Given the description of an element on the screen output the (x, y) to click on. 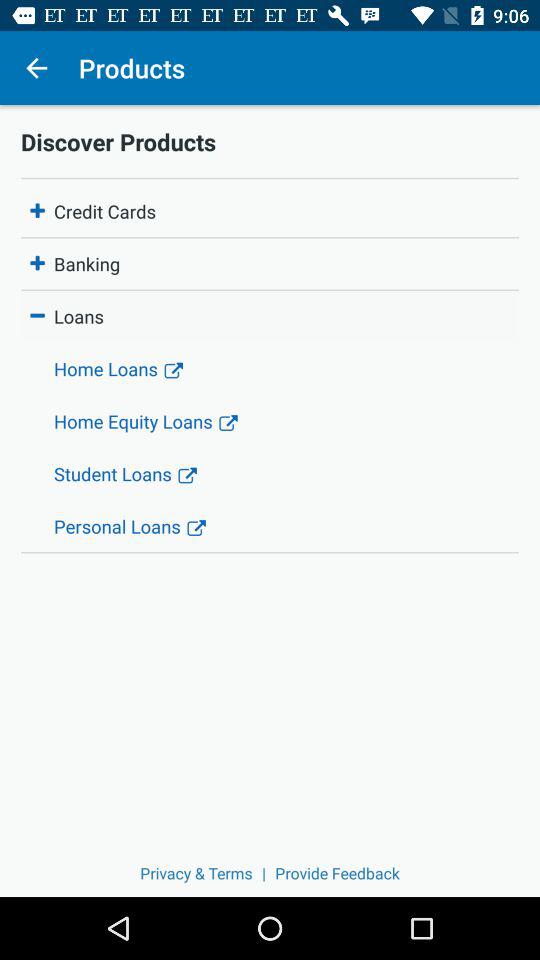
turn on the icon above the discover products (36, 68)
